Given the description of an element on the screen output the (x, y) to click on. 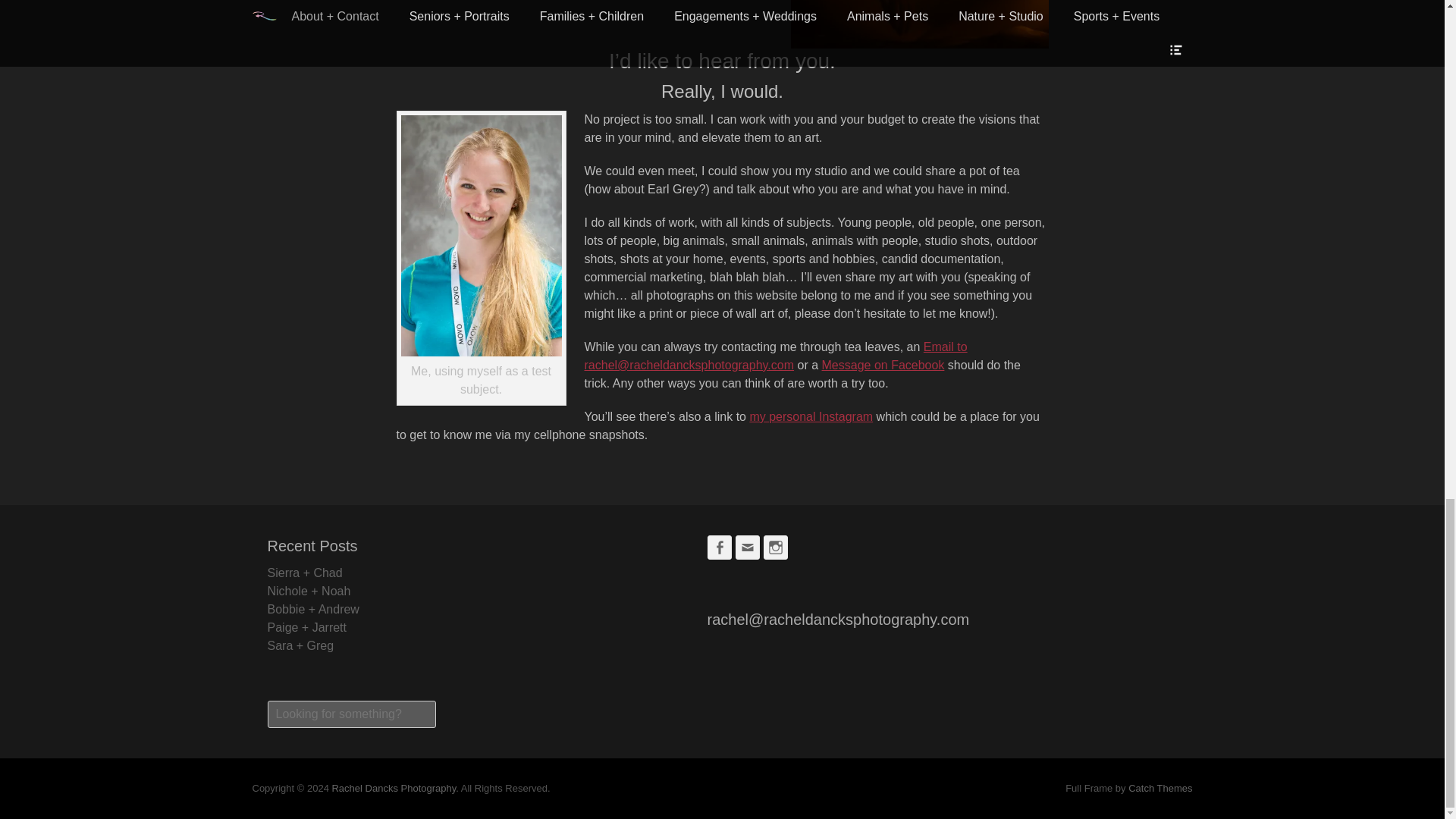
my personal Instagram (810, 416)
Message on Facebook (883, 364)
